Given the description of an element on the screen output the (x, y) to click on. 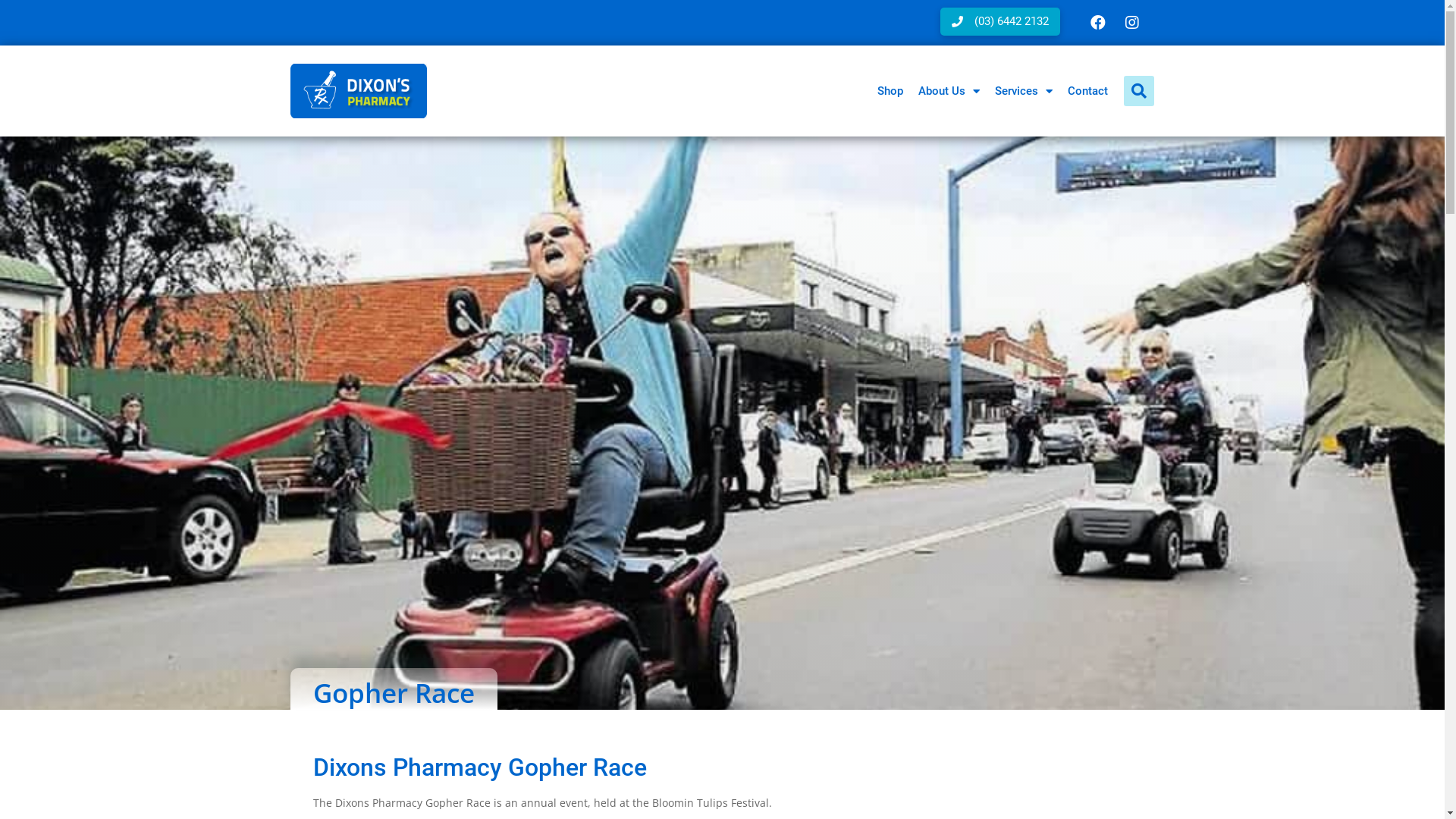
Services Element type: text (1023, 90)
About Us Element type: text (948, 90)
Shop Element type: text (889, 90)
Contact Element type: text (1087, 90)
(03) 6442 2132 Element type: text (1000, 21)
